Given the description of an element on the screen output the (x, y) to click on. 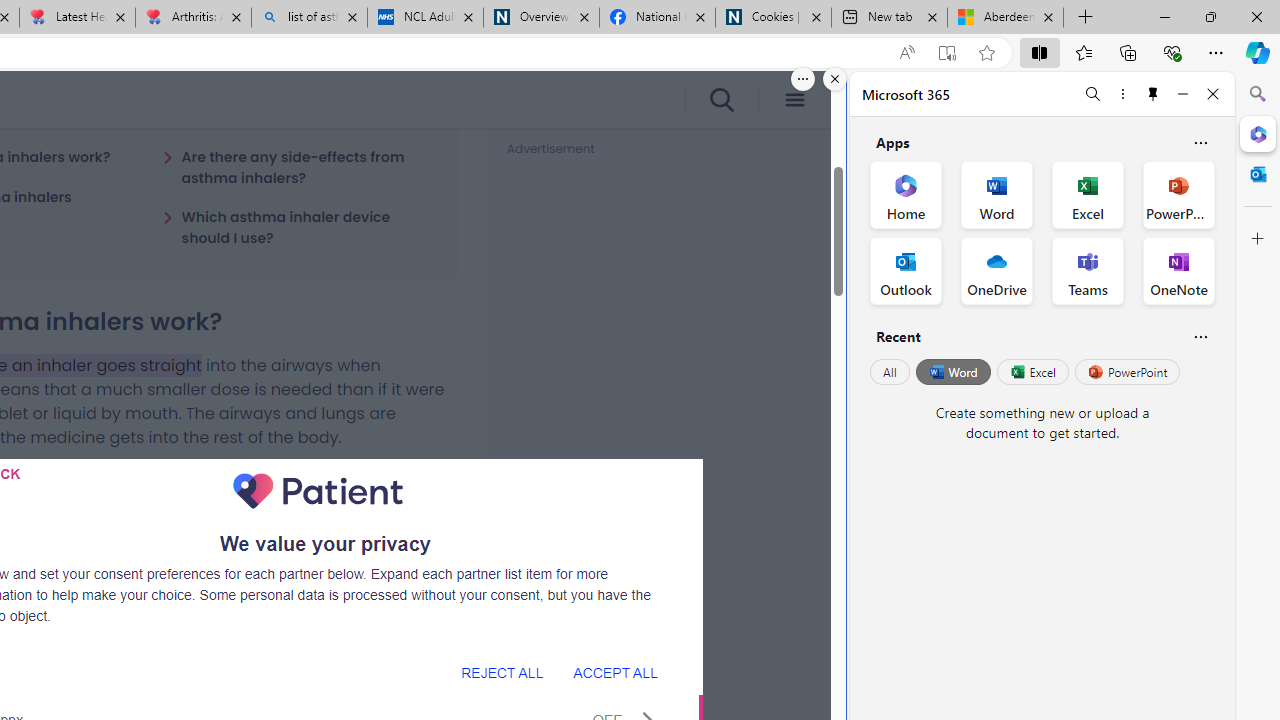
Cookies | About | NICE (772, 17)
search (720, 99)
Aberdeen, Hong Kong SAR hourly forecast | Microsoft Weather (1005, 17)
OneNote Office App (1178, 270)
